Given the description of an element on the screen output the (x, y) to click on. 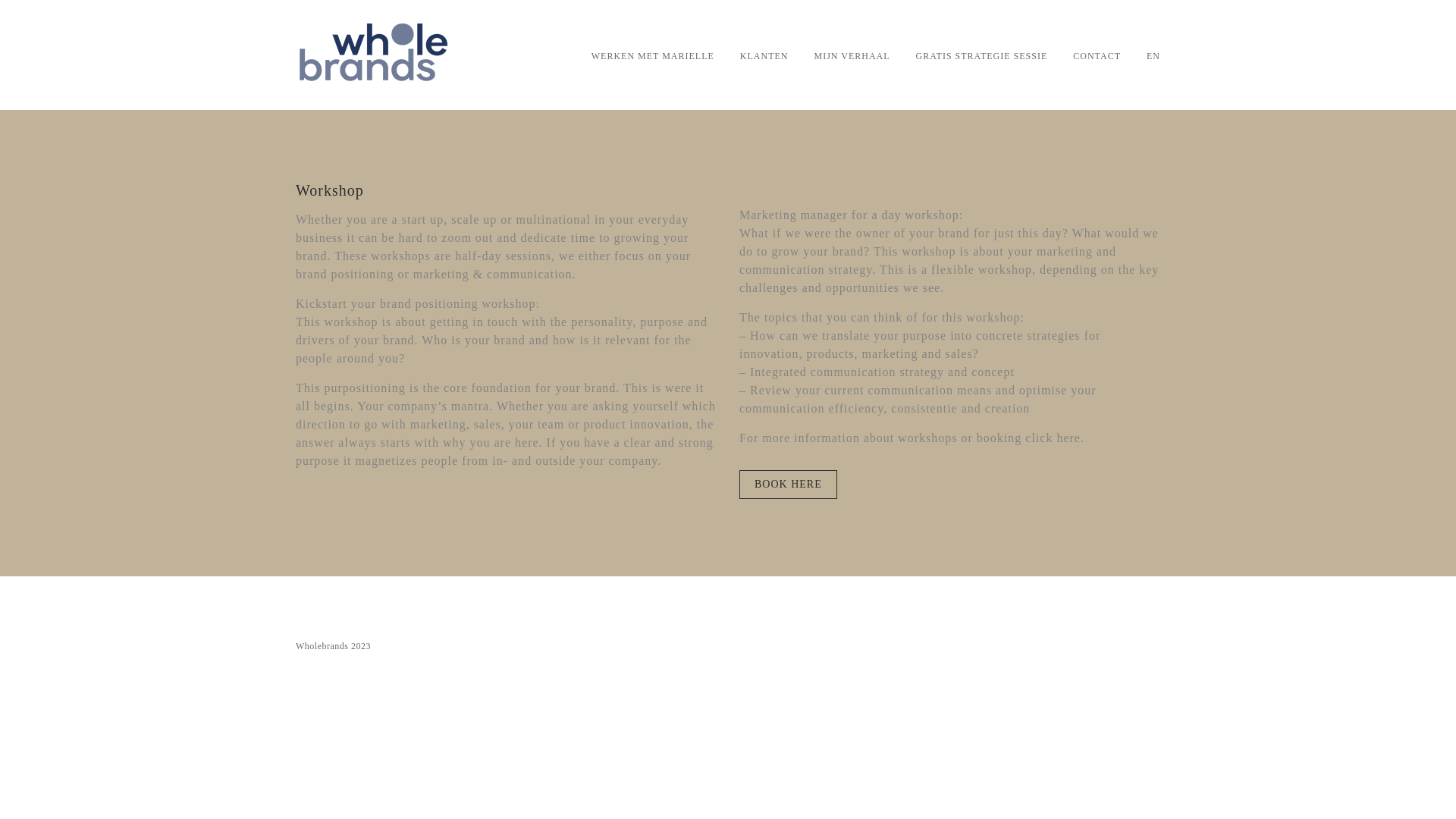
KLANTEN (764, 55)
GRATIS STRATEGIE SESSIE (981, 55)
MIJN VERHAAL (851, 55)
EN (1153, 55)
CONTACT (1097, 55)
BOOK HERE (788, 484)
WERKEN MET MARIELLE (652, 55)
